Given the description of an element on the screen output the (x, y) to click on. 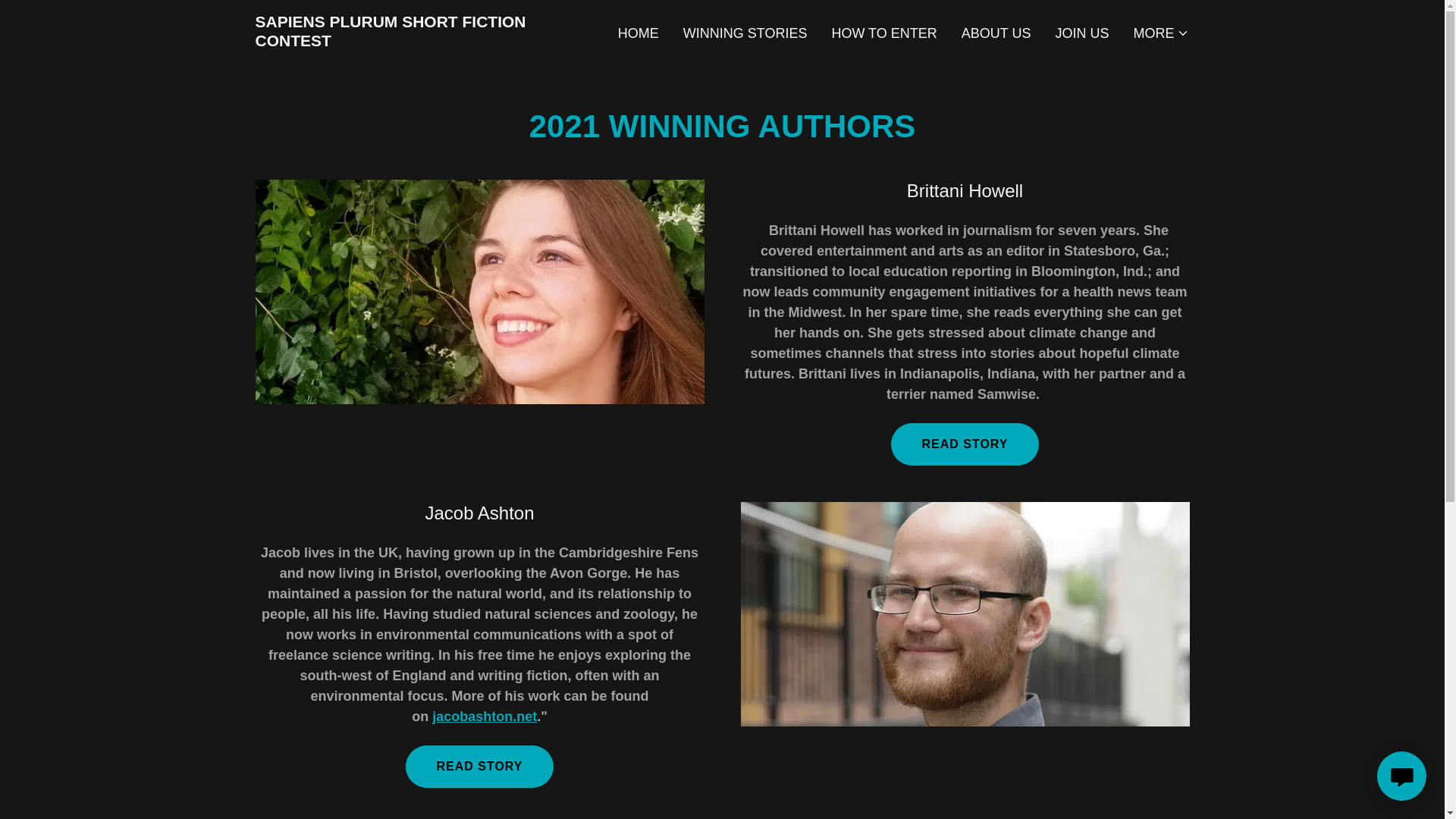
HOME (637, 32)
ABOUT US (995, 32)
HOW TO ENTER (883, 32)
SAPIENS PLURUM SHORT FICTION CONTEST (417, 41)
READ STORY (479, 766)
JOIN US (1081, 32)
MORE (1160, 33)
Sapiens Plurum Short Fiction Contest (417, 41)
jacobashton.net (484, 716)
WINNING STORIES (745, 32)
